Given the description of an element on the screen output the (x, y) to click on. 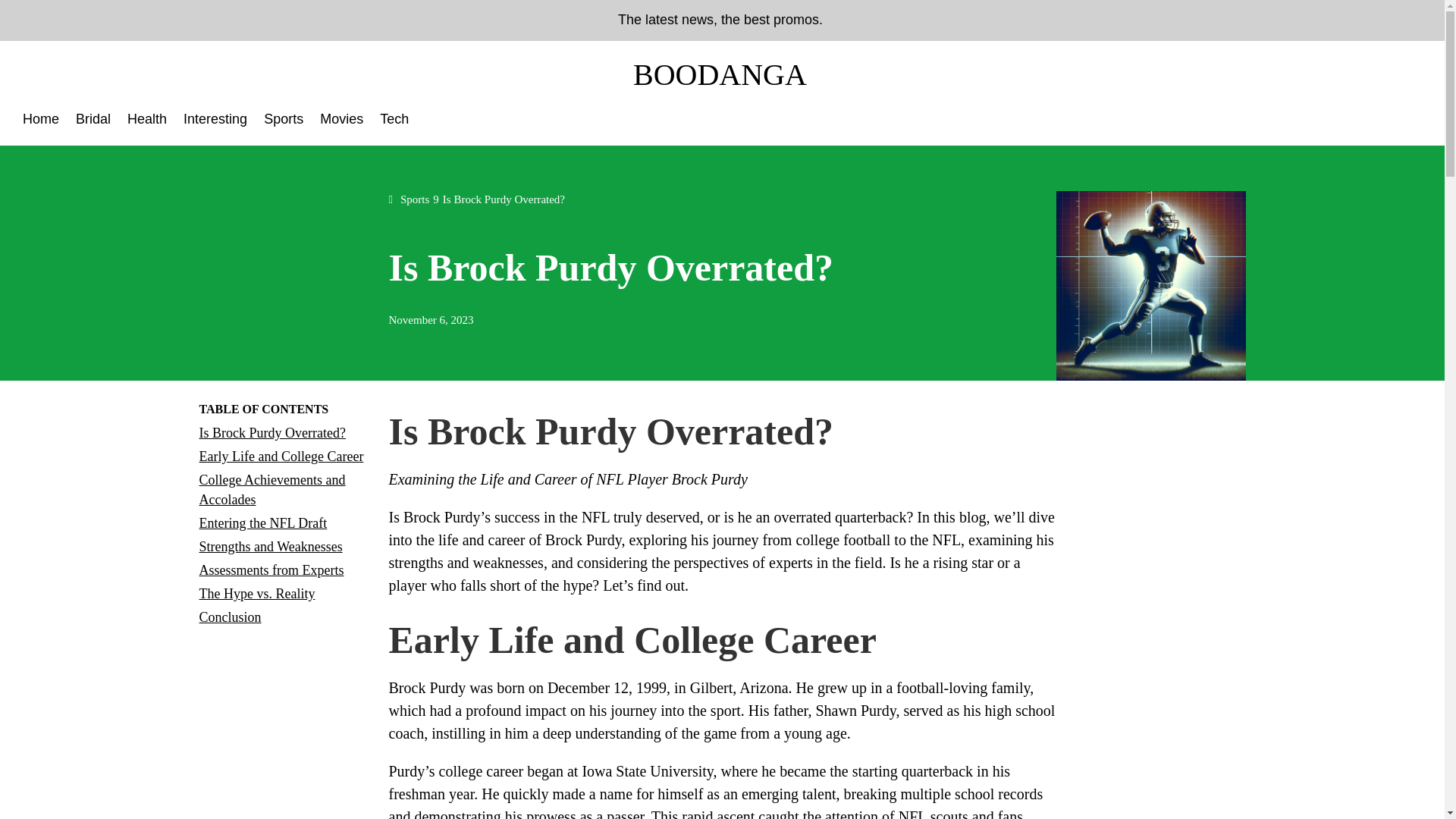
Assessments from Experts (270, 570)
Interesting (215, 121)
Home (41, 121)
Strengths and Weaknesses (270, 546)
Tech (394, 121)
Conclusion (229, 616)
Bridal (92, 121)
Movies (341, 121)
Health (147, 121)
The Hype vs. Reality (256, 593)
BOODANGA v2 (720, 74)
Early Life and College Career (280, 456)
College Achievements and Accolades (271, 489)
Sports (282, 121)
Entering the NFL Draft (262, 522)
